Given the description of an element on the screen output the (x, y) to click on. 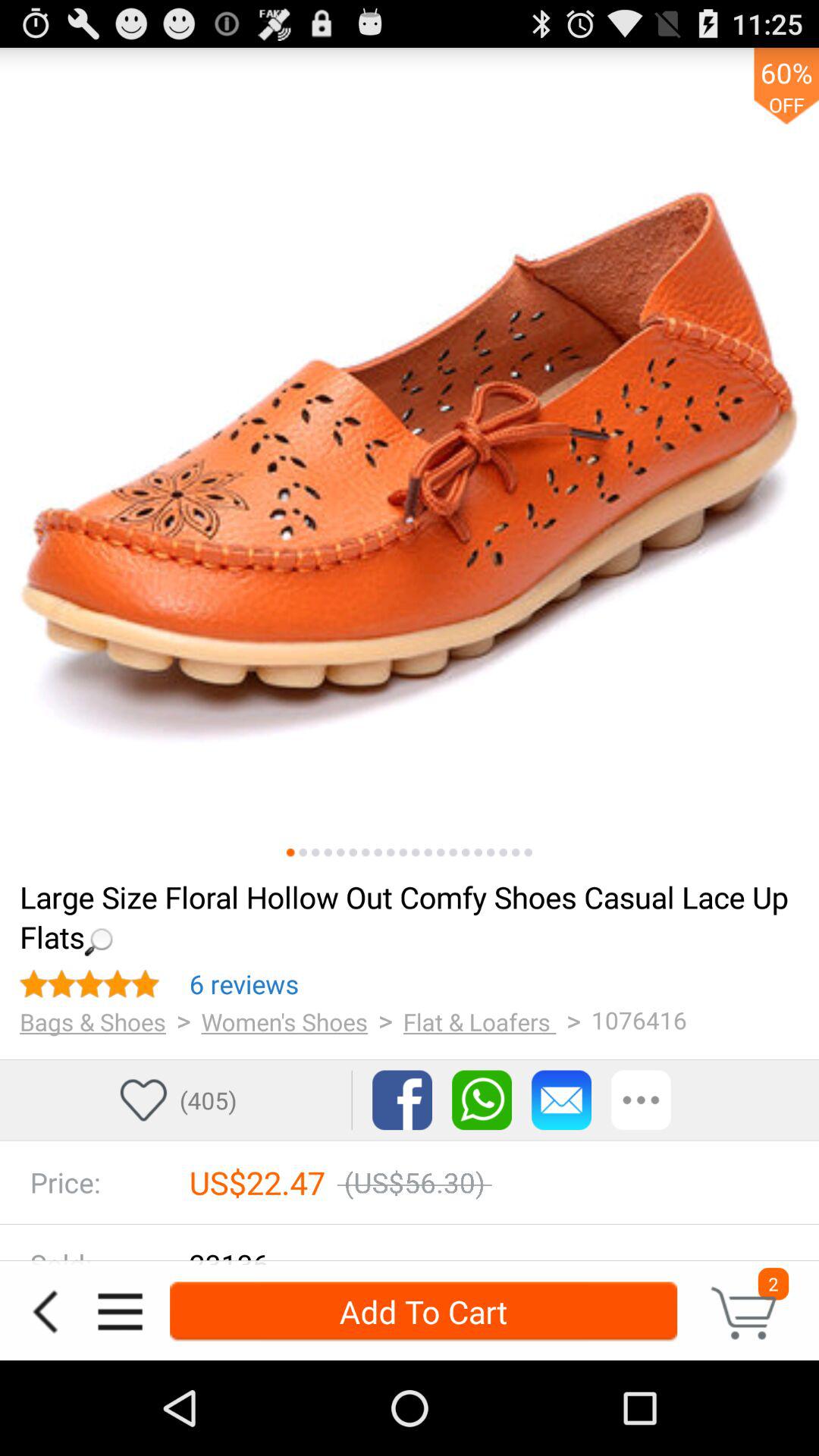
page selector (478, 852)
